Given the description of an element on the screen output the (x, y) to click on. 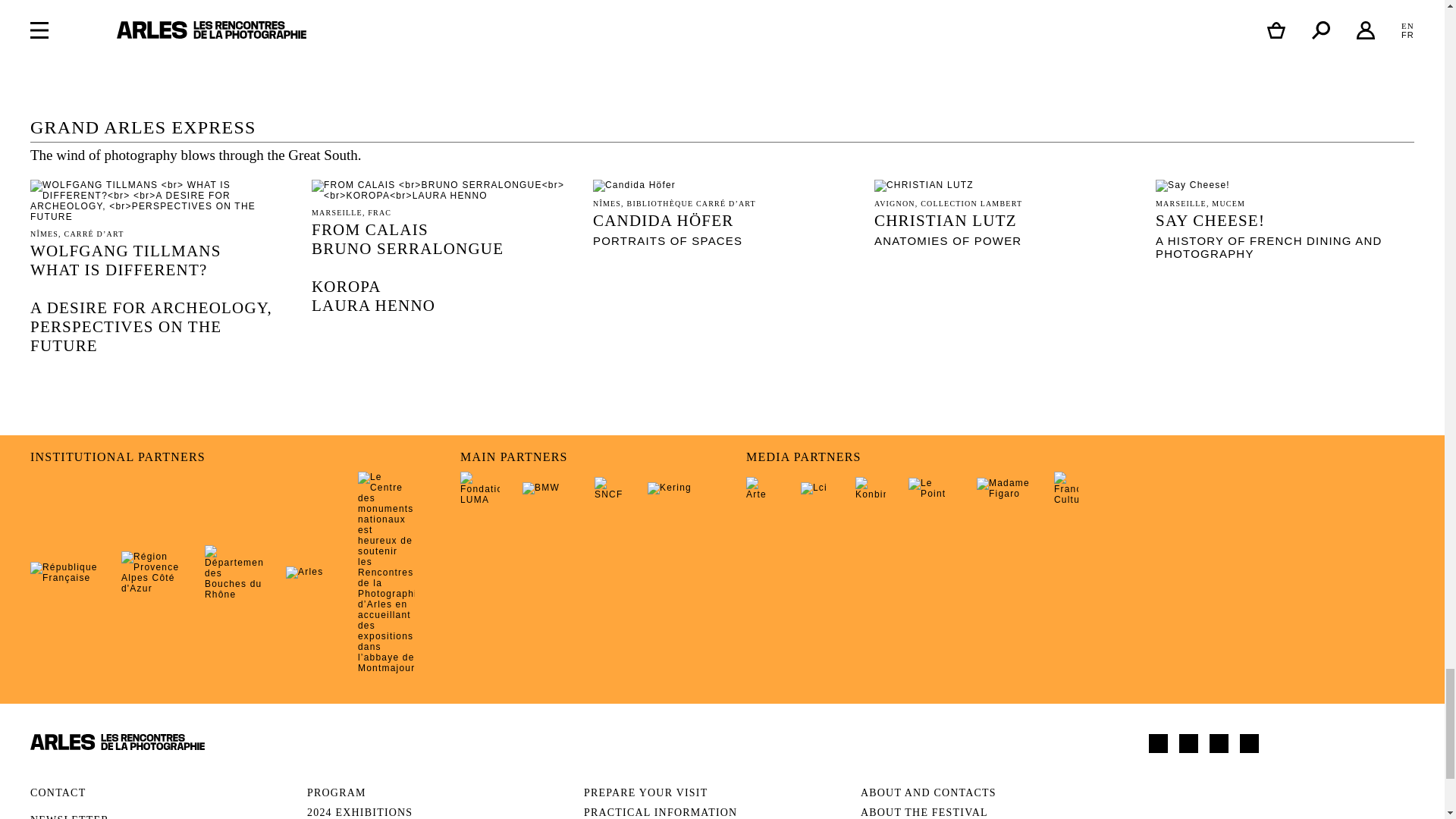
Lci (816, 488)
Konbini (870, 487)
SNCF (609, 487)
Kering (673, 488)
Madame Figaro (1003, 487)
Fondation LUMA (479, 488)
Arles (309, 572)
BMW (547, 488)
Le Point (930, 487)
Arte (761, 487)
